Given the description of an element on the screen output the (x, y) to click on. 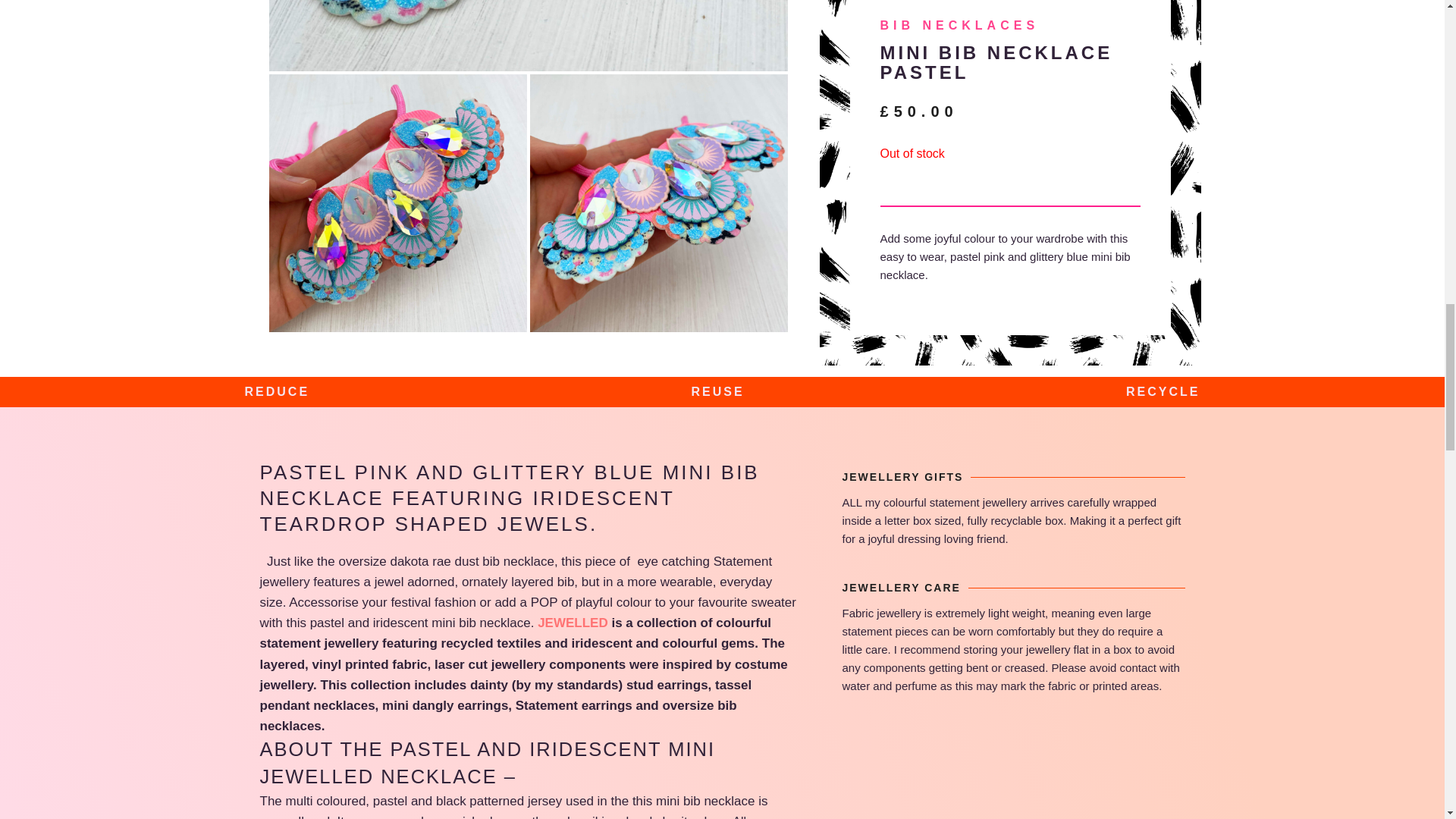
bib-necklace-sept23-034 (658, 203)
bib-necklace-sept23-033 (396, 203)
bib-necklace-sept23-032 (527, 35)
